Given the description of an element on the screen output the (x, y) to click on. 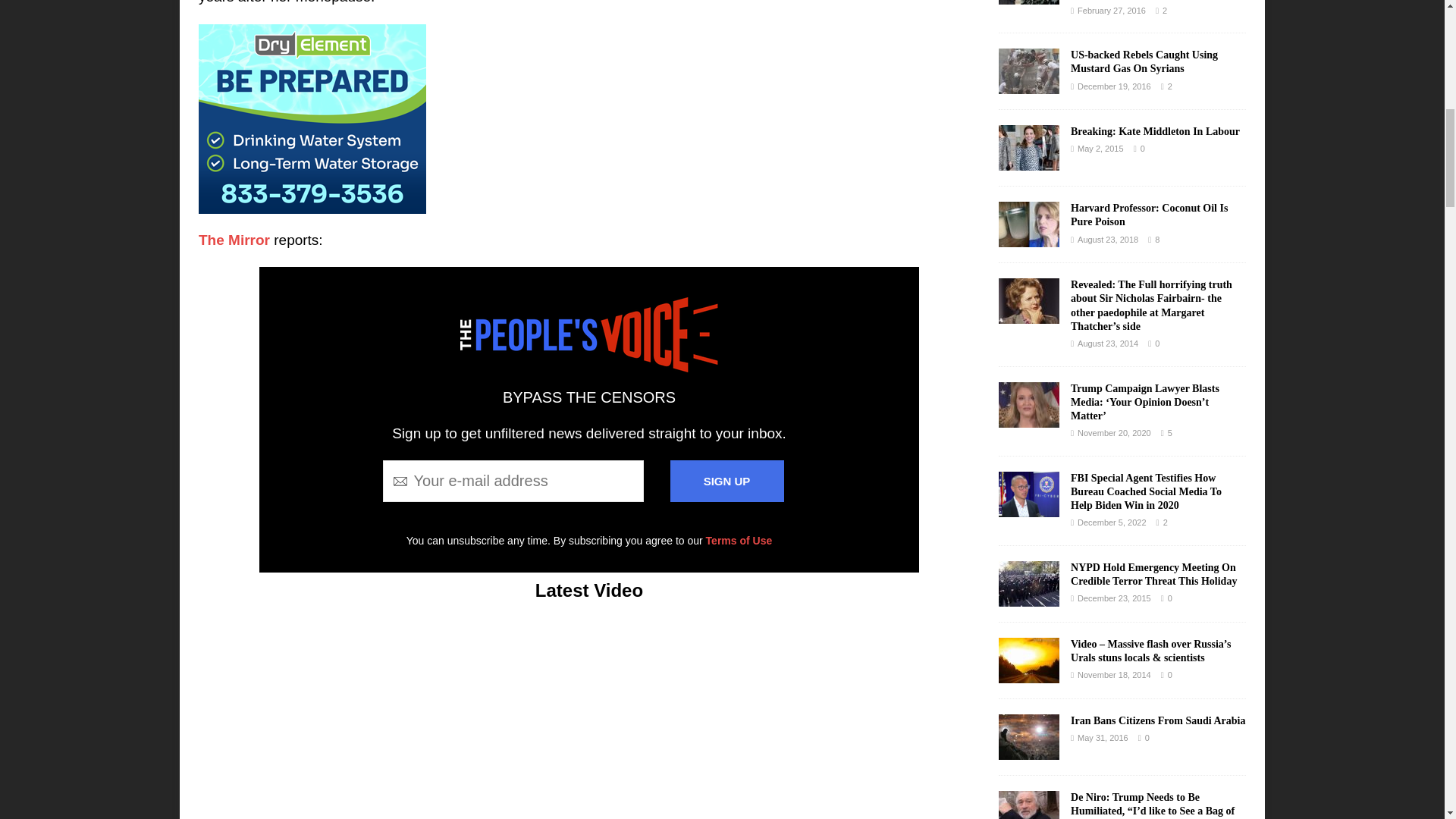
SIGN UP (726, 481)
